Given the description of an element on the screen output the (x, y) to click on. 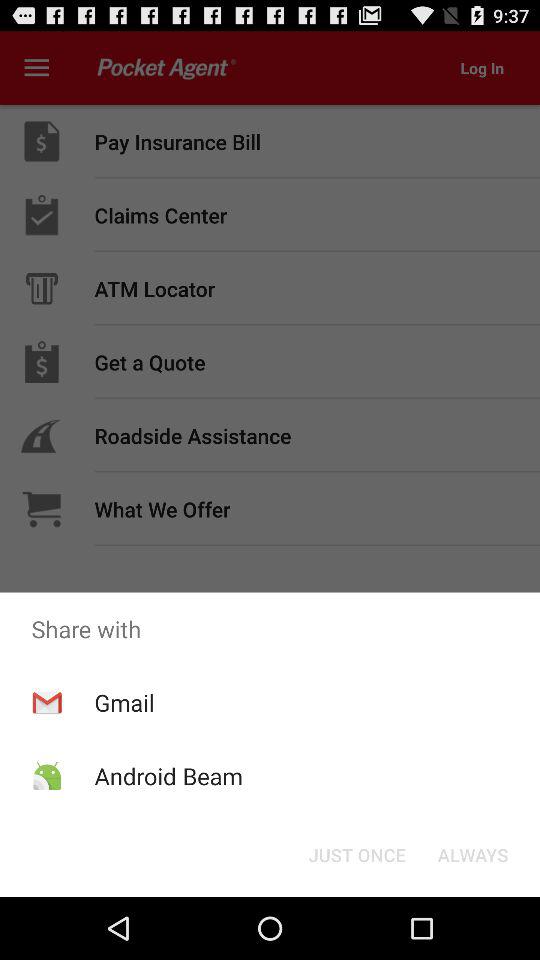
flip to the gmail app (124, 702)
